Given the description of an element on the screen output the (x, y) to click on. 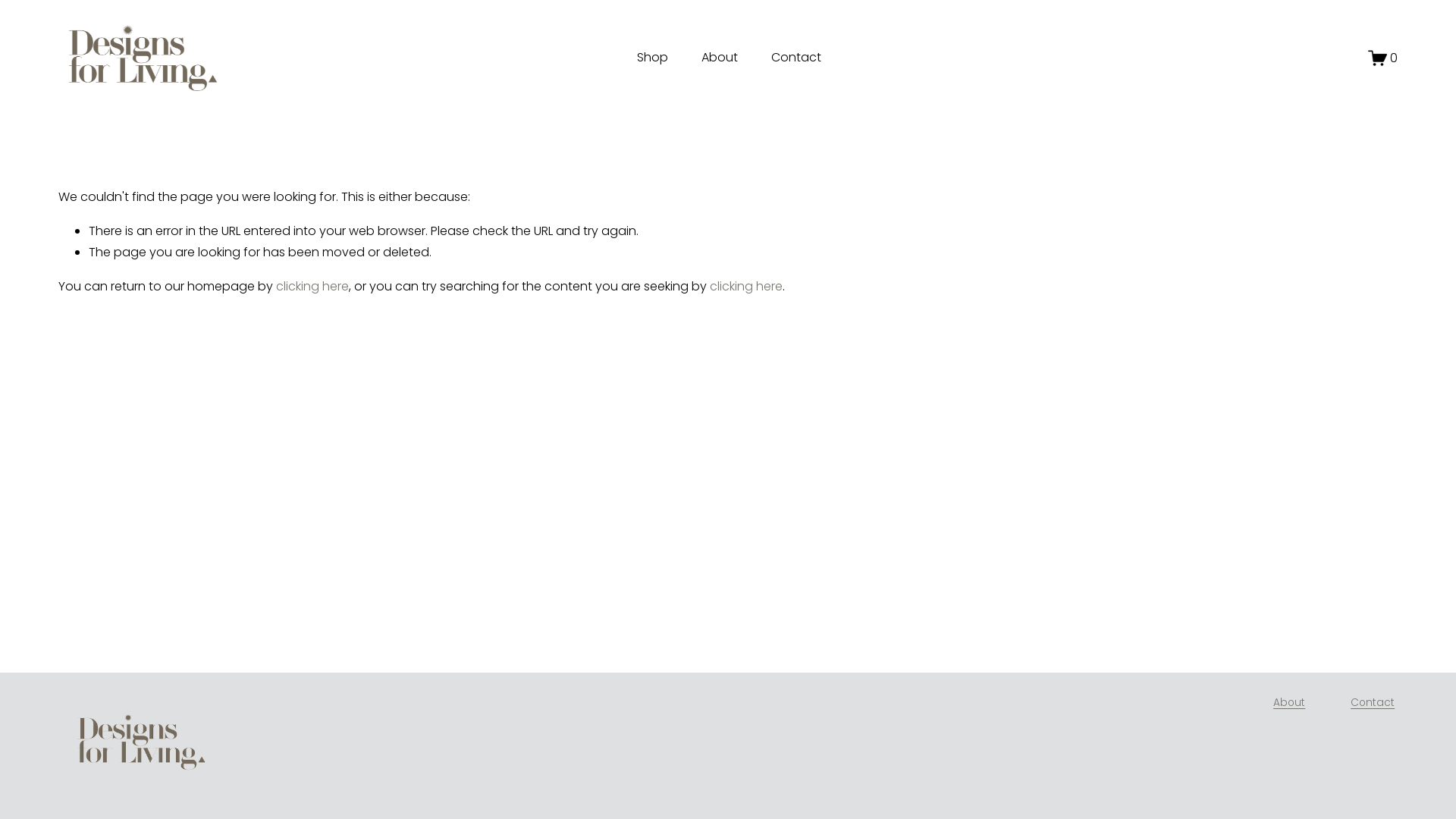
Contact Element type: text (796, 58)
clicking here Element type: text (745, 285)
About Element type: text (719, 58)
Shop Element type: text (652, 58)
About Element type: text (1289, 702)
0 Element type: text (1383, 57)
Contact Element type: text (1372, 702)
clicking here Element type: text (312, 285)
